Given the description of an element on the screen output the (x, y) to click on. 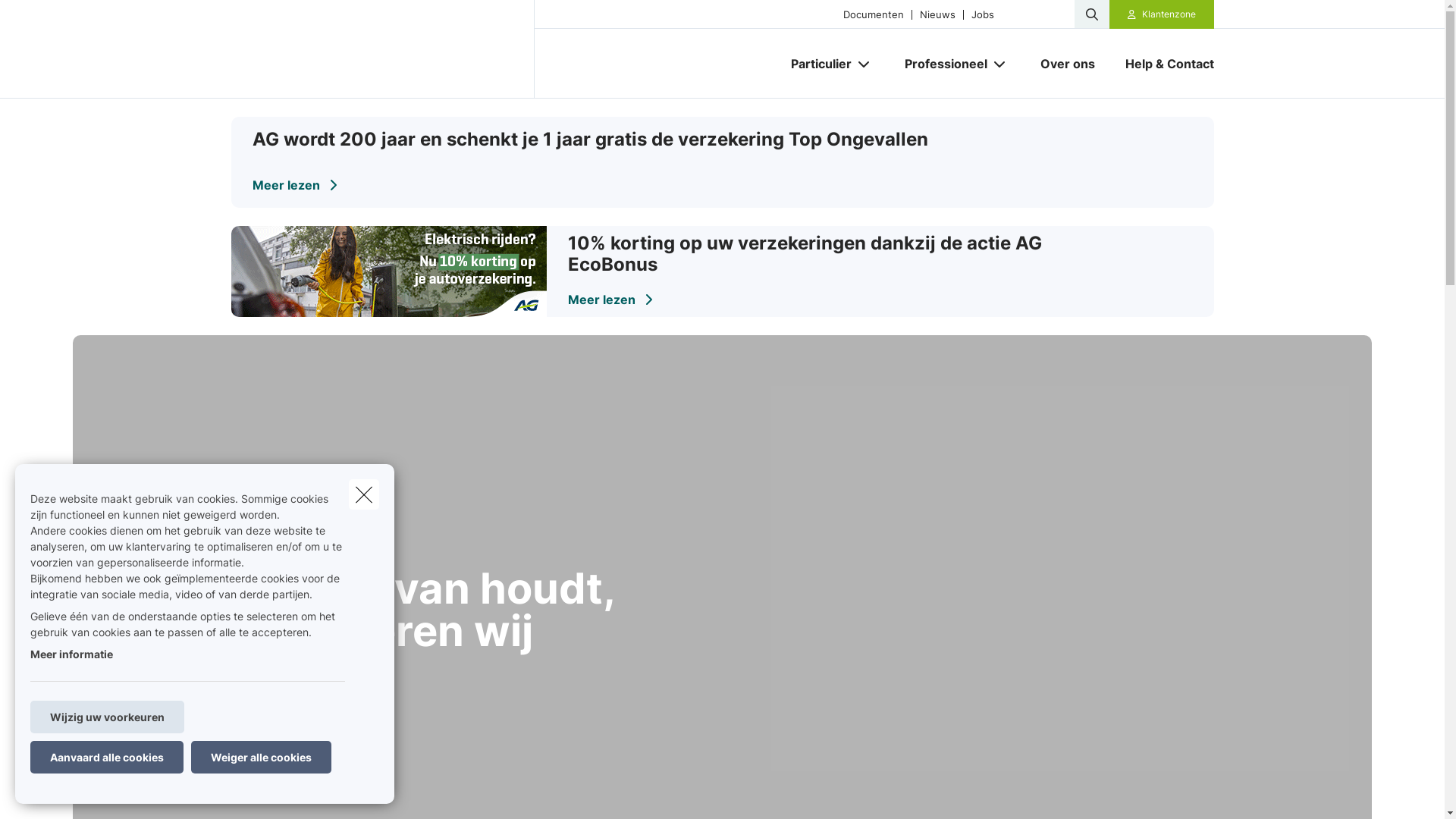
Aanvaard alle cookies Element type: text (106, 756)
Weiger alle cookies Element type: text (261, 756)
Professioneel Element type: text (939, 63)
Meer informatie Element type: text (71, 653)
Particulier Element type: text (814, 63)
Meer lezen Element type: text (609, 299)
Klantenzone Element type: text (1161, 14)
Wijzig uw voorkeuren Element type: text (107, 716)
Meer lezen Element type: text (293, 184)
Jobs Element type: text (982, 13)
Over ons Element type: text (1067, 63)
Nieuws Element type: text (937, 13)
Zoeken Element type: text (42, 18)
Help & Contact Element type: text (1162, 63)
Documenten Element type: text (873, 13)
